Given the description of an element on the screen output the (x, y) to click on. 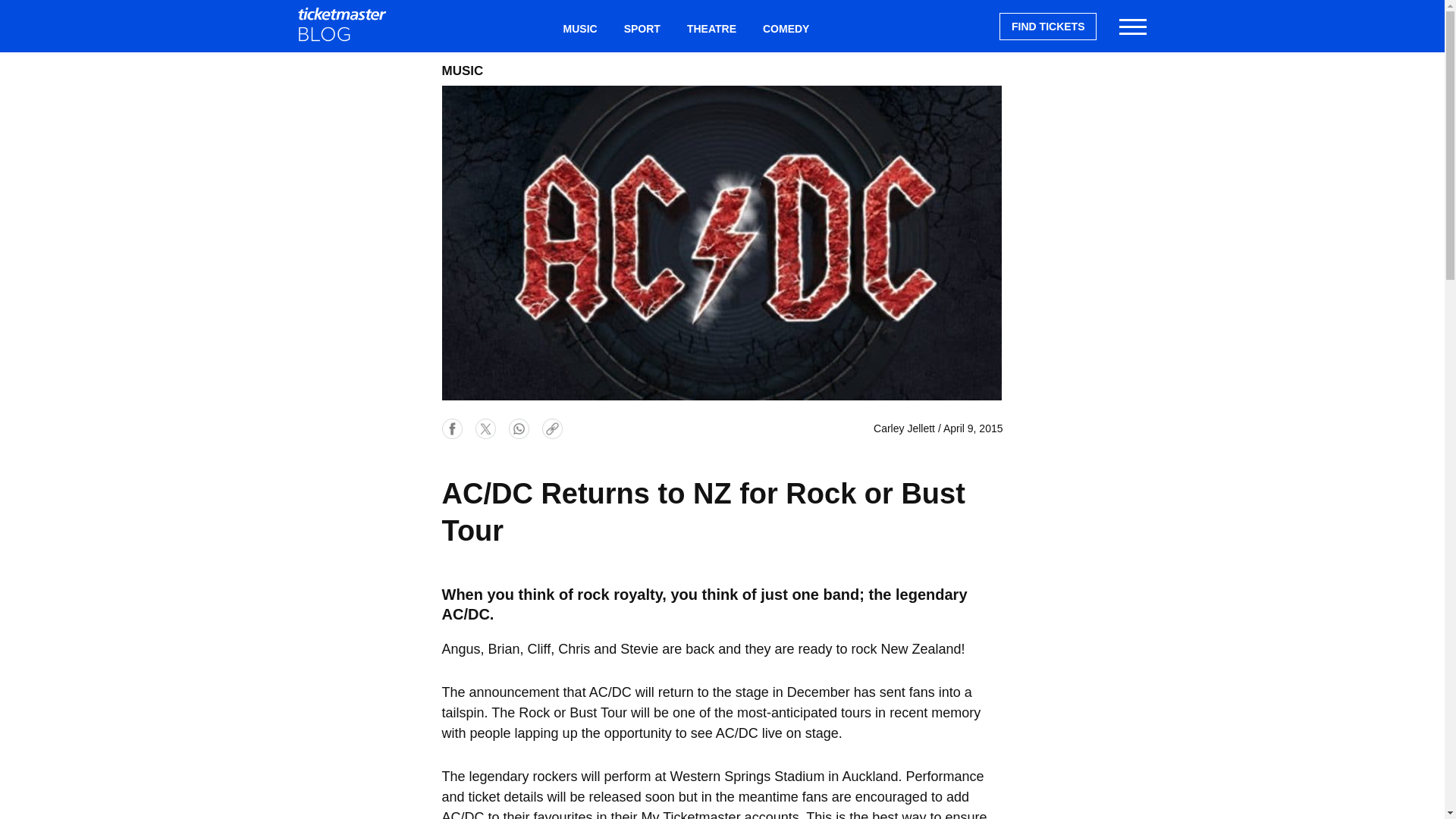
THEATRE (711, 28)
MUSIC (579, 28)
FIND TICKETS (1047, 26)
SPORT (641, 28)
Carley Jellett (903, 428)
COMEDY (786, 28)
